Given the description of an element on the screen output the (x, y) to click on. 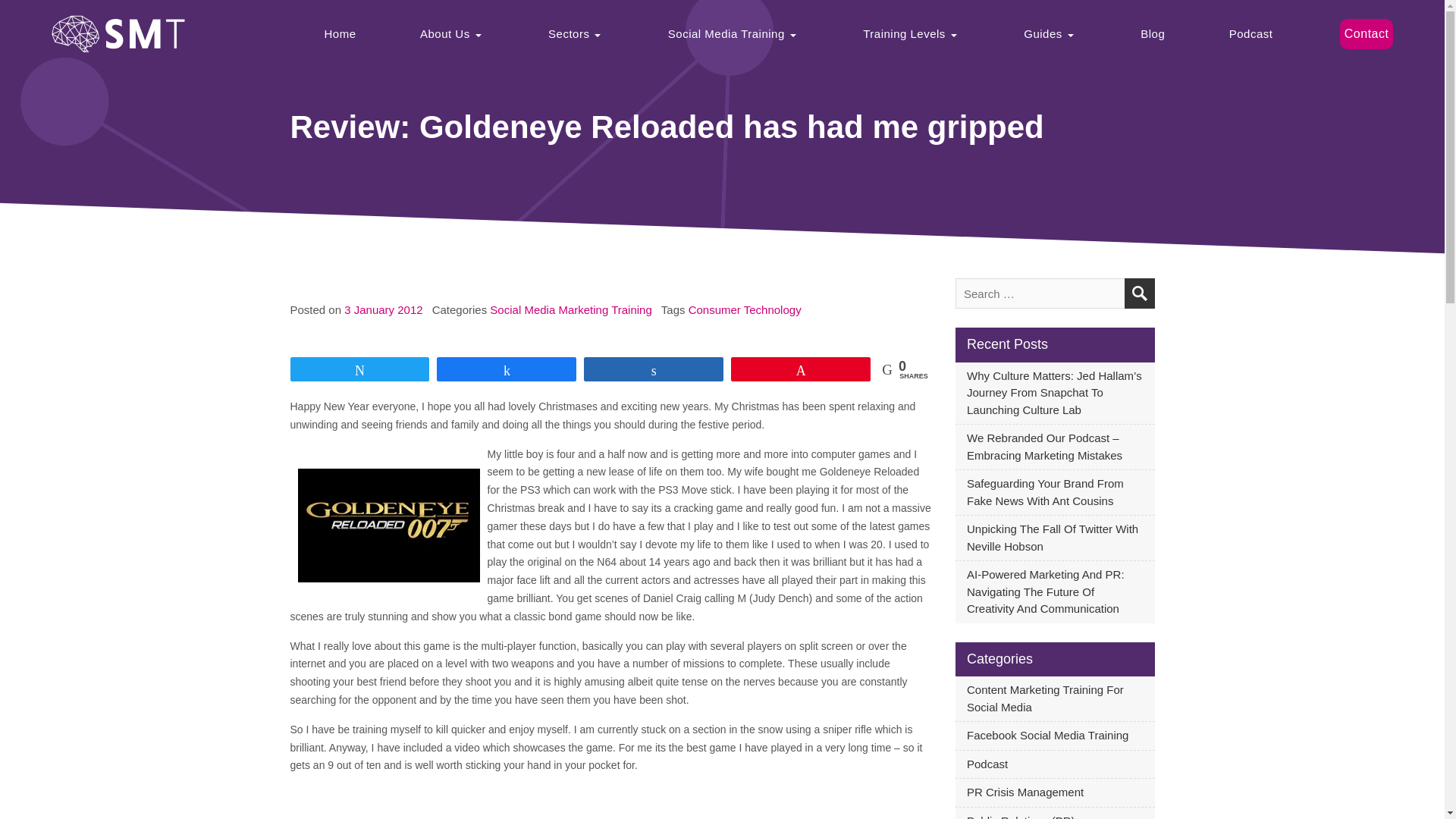
Home (340, 33)
About Us (451, 33)
image (388, 525)
Sectors (575, 33)
Social Media Training (733, 33)
